Given the description of an element on the screen output the (x, y) to click on. 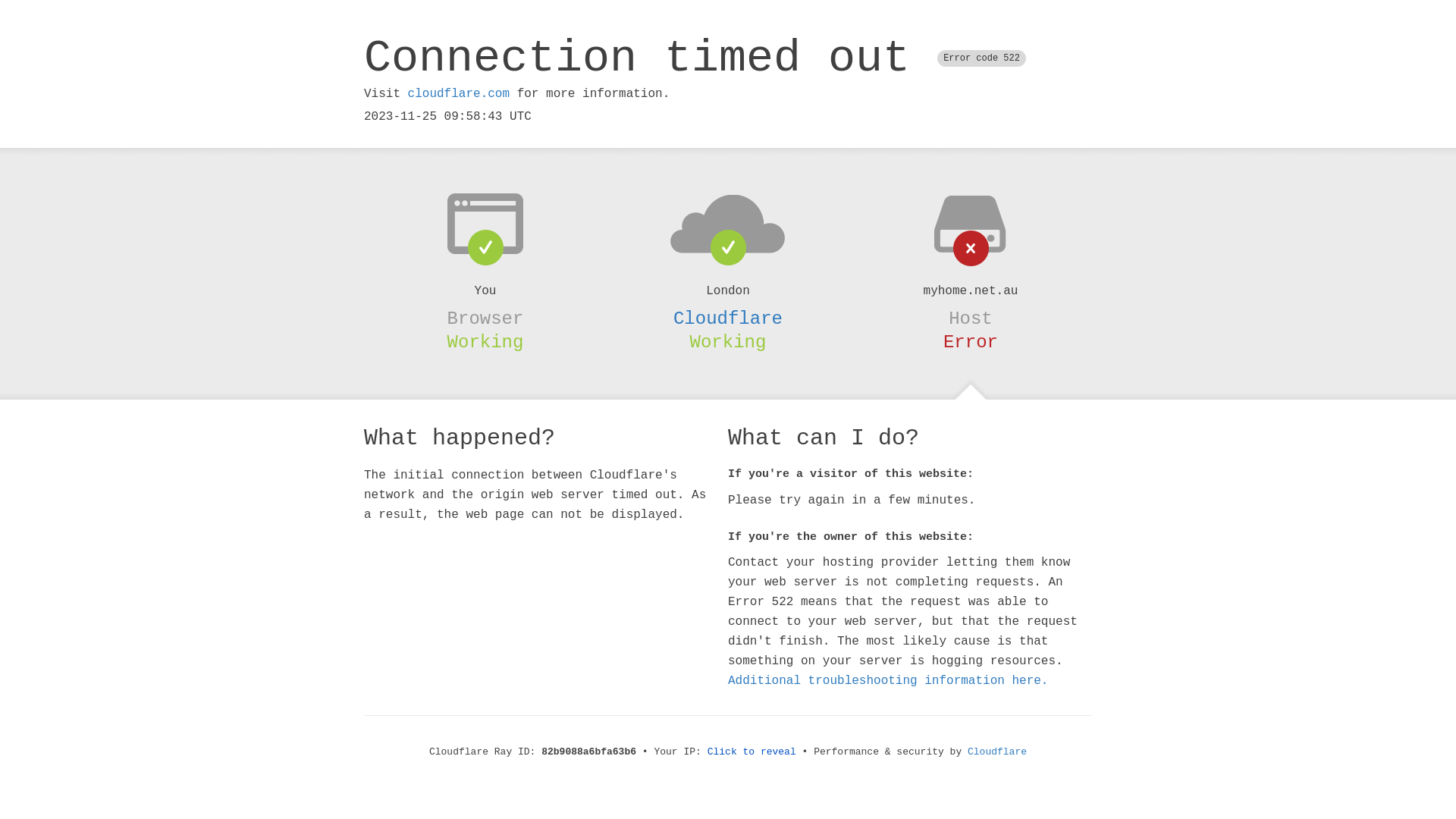
Additional troubleshooting information here. Element type: text (888, 680)
Cloudflare Element type: text (996, 751)
Click to reveal Element type: text (751, 751)
Cloudflare Element type: text (727, 318)
cloudflare.com Element type: text (458, 93)
